Given the description of an element on the screen output the (x, y) to click on. 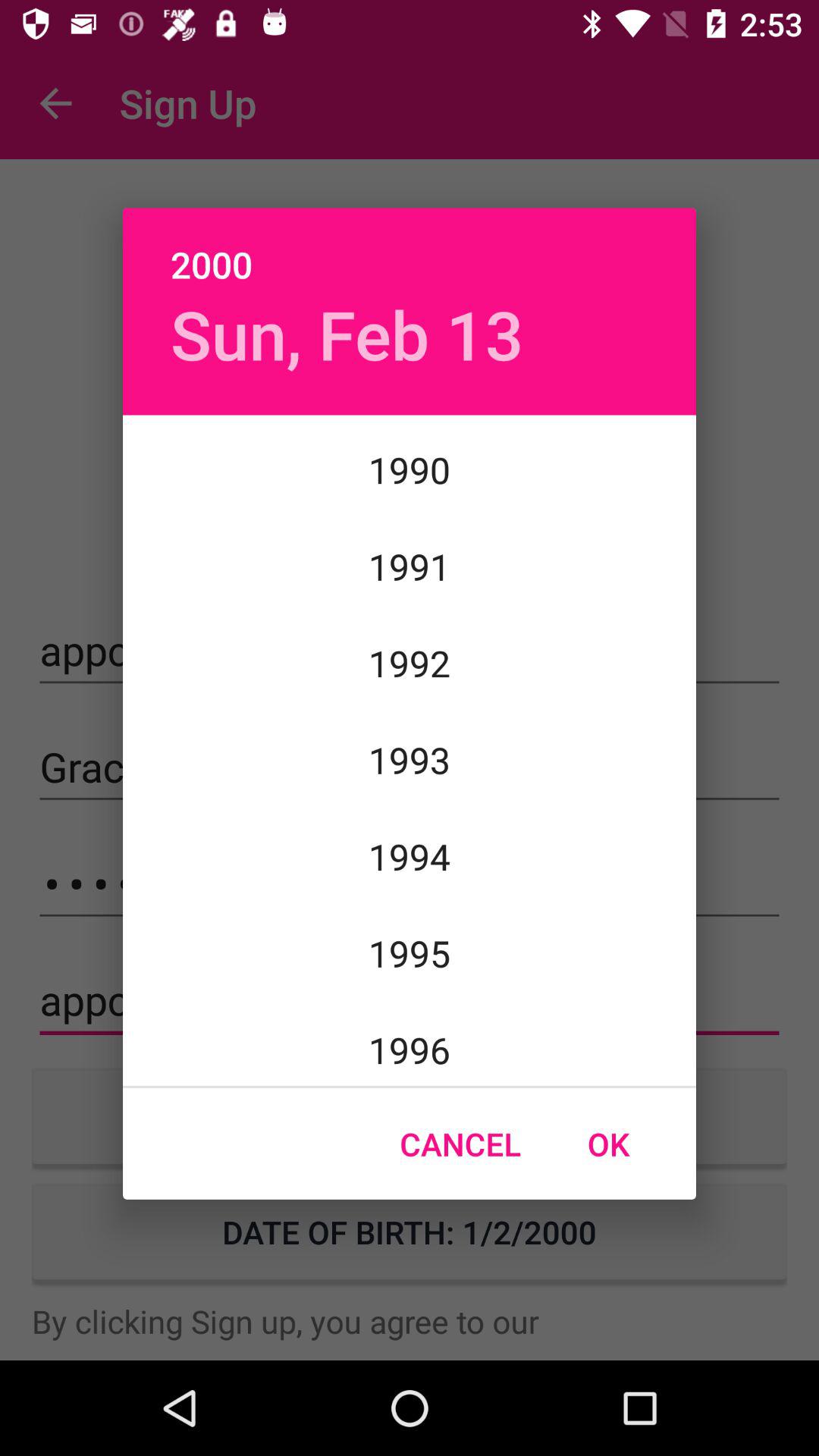
click the item above 1989 icon (346, 333)
